Given the description of an element on the screen output the (x, y) to click on. 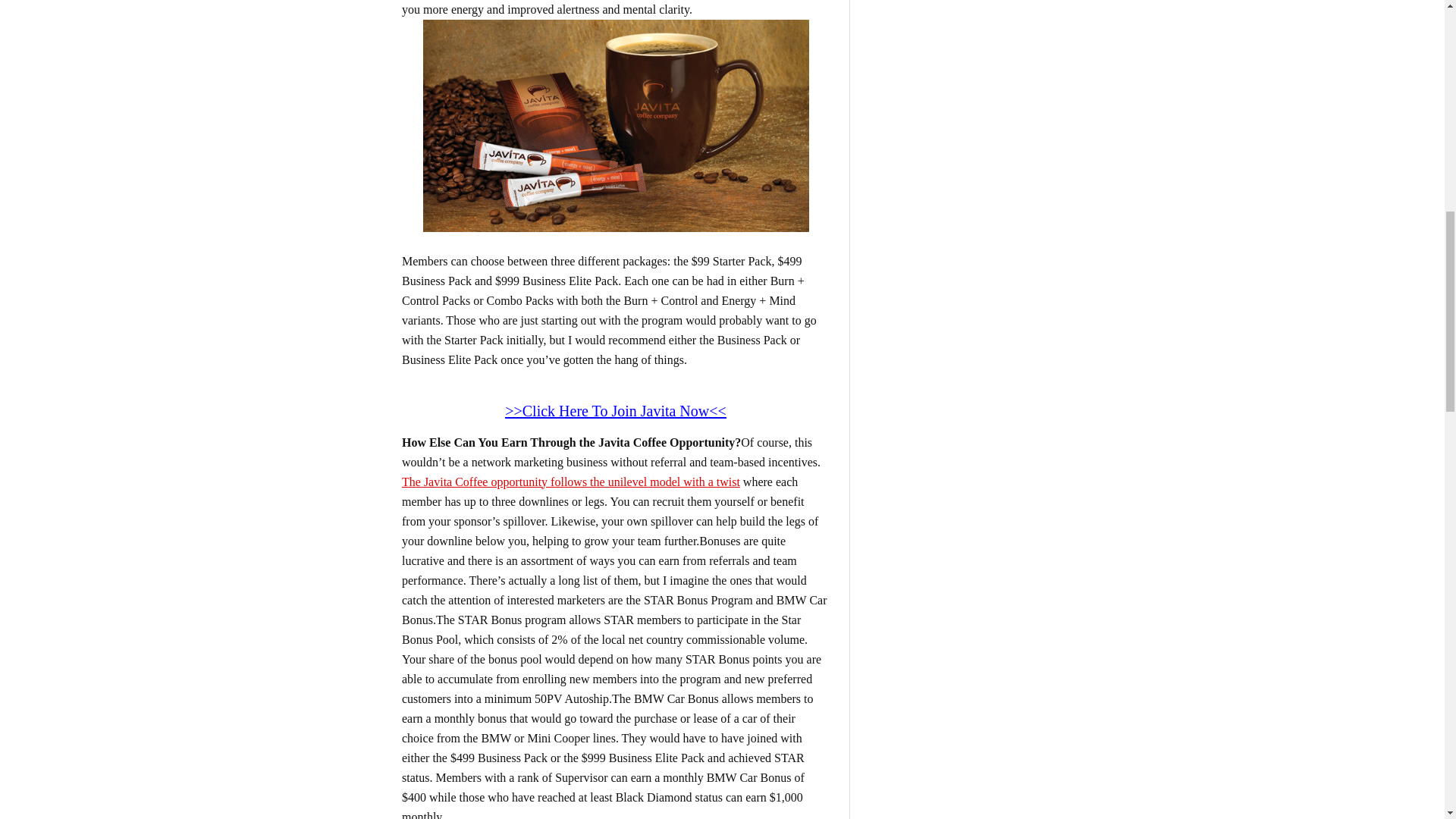
Javita Coffee Products (616, 125)
